Given the description of an element on the screen output the (x, y) to click on. 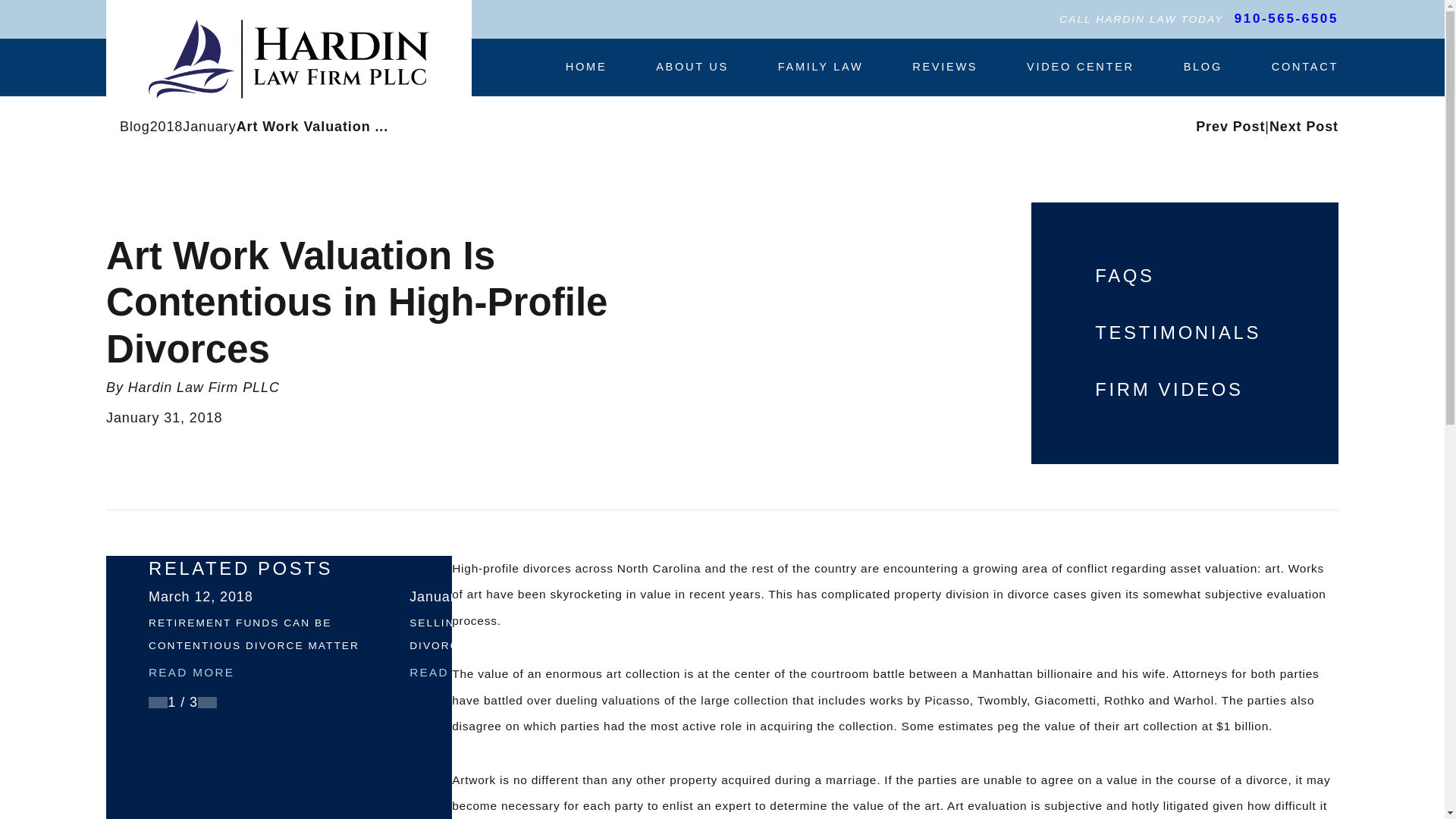
FAMILY LAW (820, 66)
BLOG (1203, 66)
ABOUT US (692, 66)
REVIEWS (944, 66)
Go Home (112, 126)
VIDEO CENTER (1080, 66)
View previous item (157, 702)
910-565-6505 (1286, 19)
HOME (586, 66)
Open the accessibility options menu (31, 786)
